Given the description of an element on the screen output the (x, y) to click on. 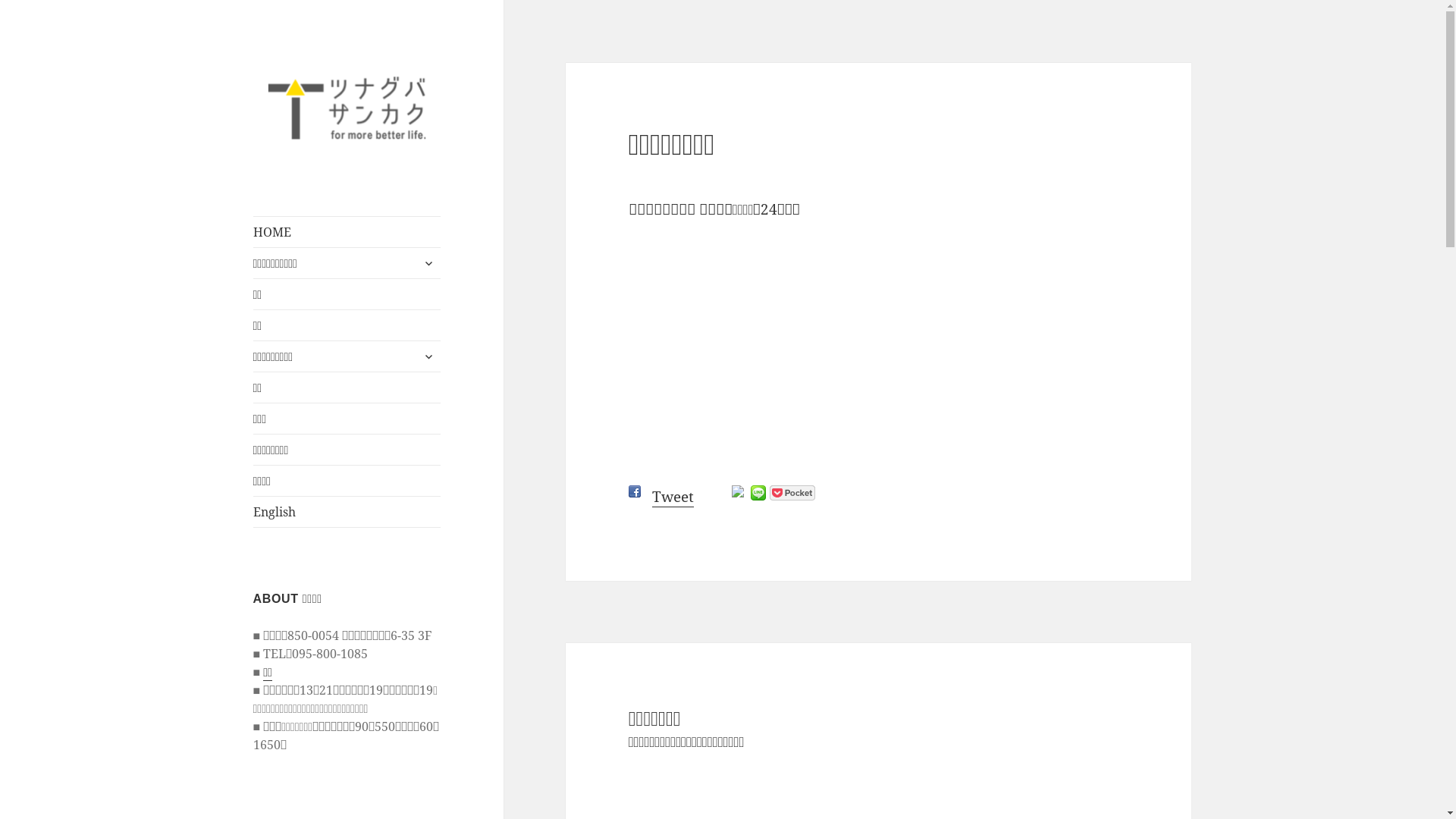
HOME Element type: text (347, 231)
Tweet Element type: text (672, 496)
English Element type: text (347, 511)
